Given the description of an element on the screen output the (x, y) to click on. 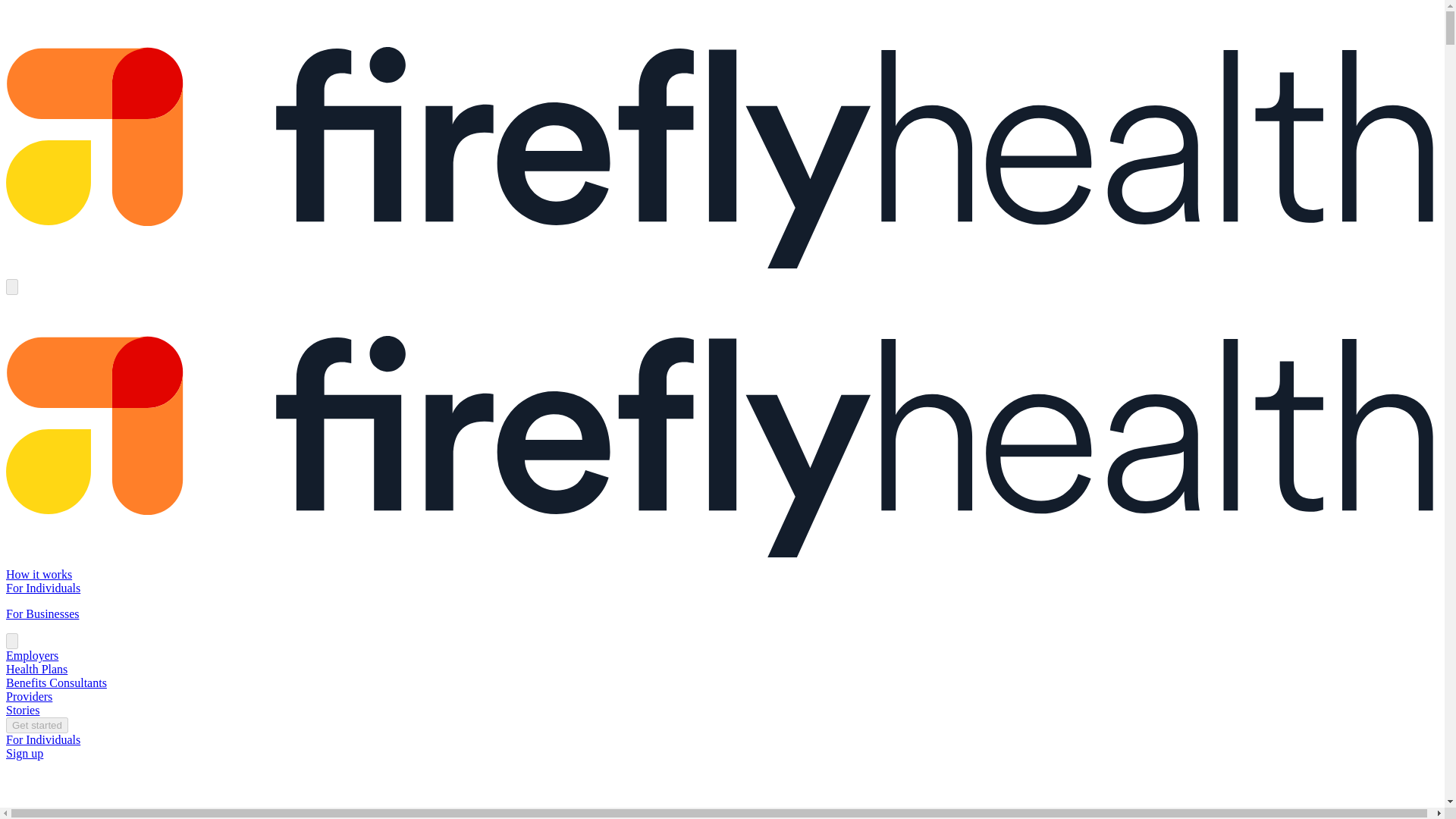
Get started (36, 725)
For Individuals (42, 587)
arrow-down (11, 641)
Benefits Consultants (55, 682)
Health Plans (35, 668)
menu (11, 286)
Providers (28, 696)
Stories (22, 709)
Employers (31, 655)
How it works (38, 574)
